Given the description of an element on the screen output the (x, y) to click on. 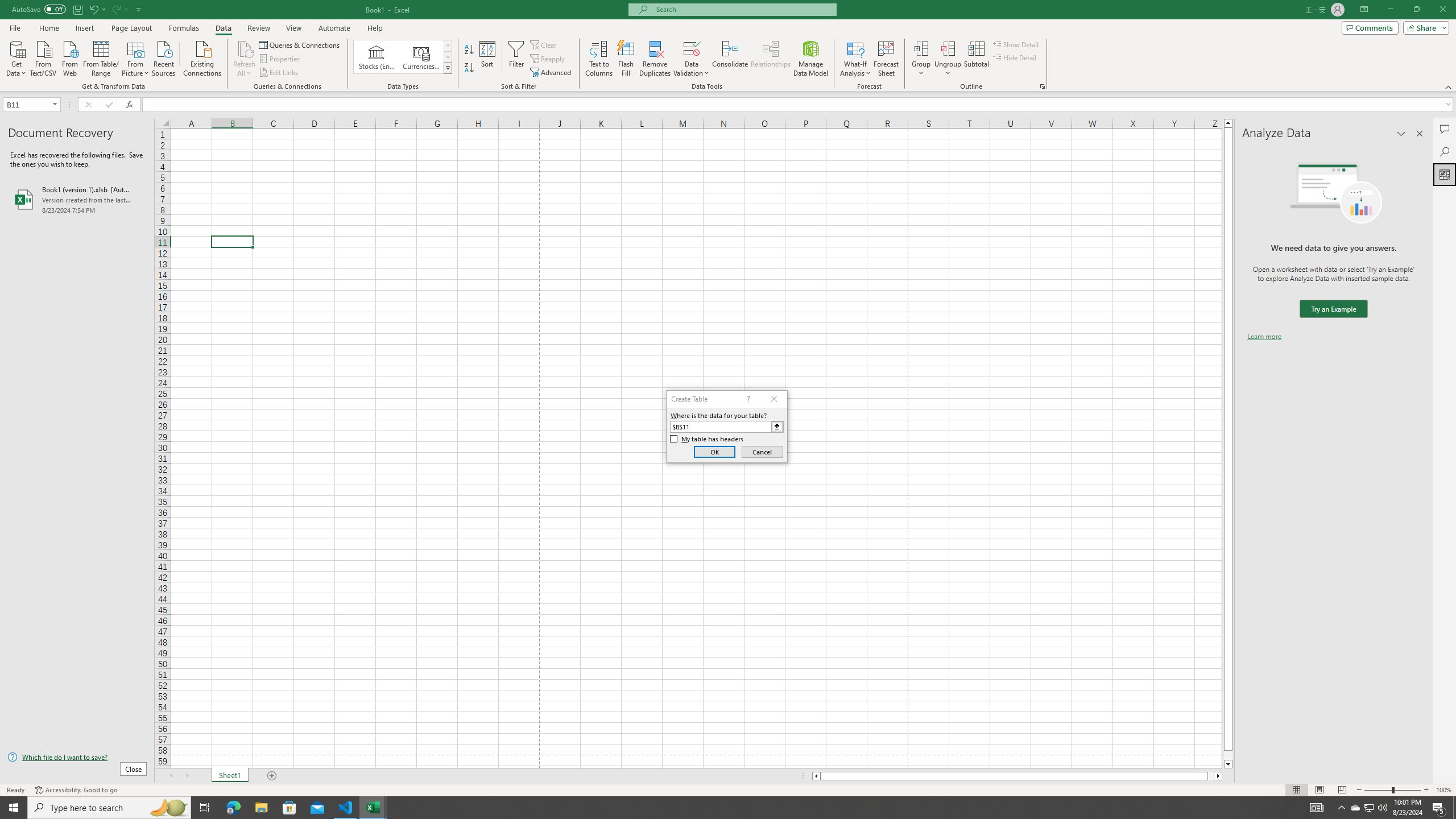
Which file do I want to save? (77, 757)
Data Types (448, 67)
Existing Connections (202, 57)
Class: MsoCommandBar (728, 45)
Hide Detail (1014, 56)
We need data to give you answers. Try an Example (1333, 308)
Task Pane Options (1400, 133)
